Given the description of an element on the screen output the (x, y) to click on. 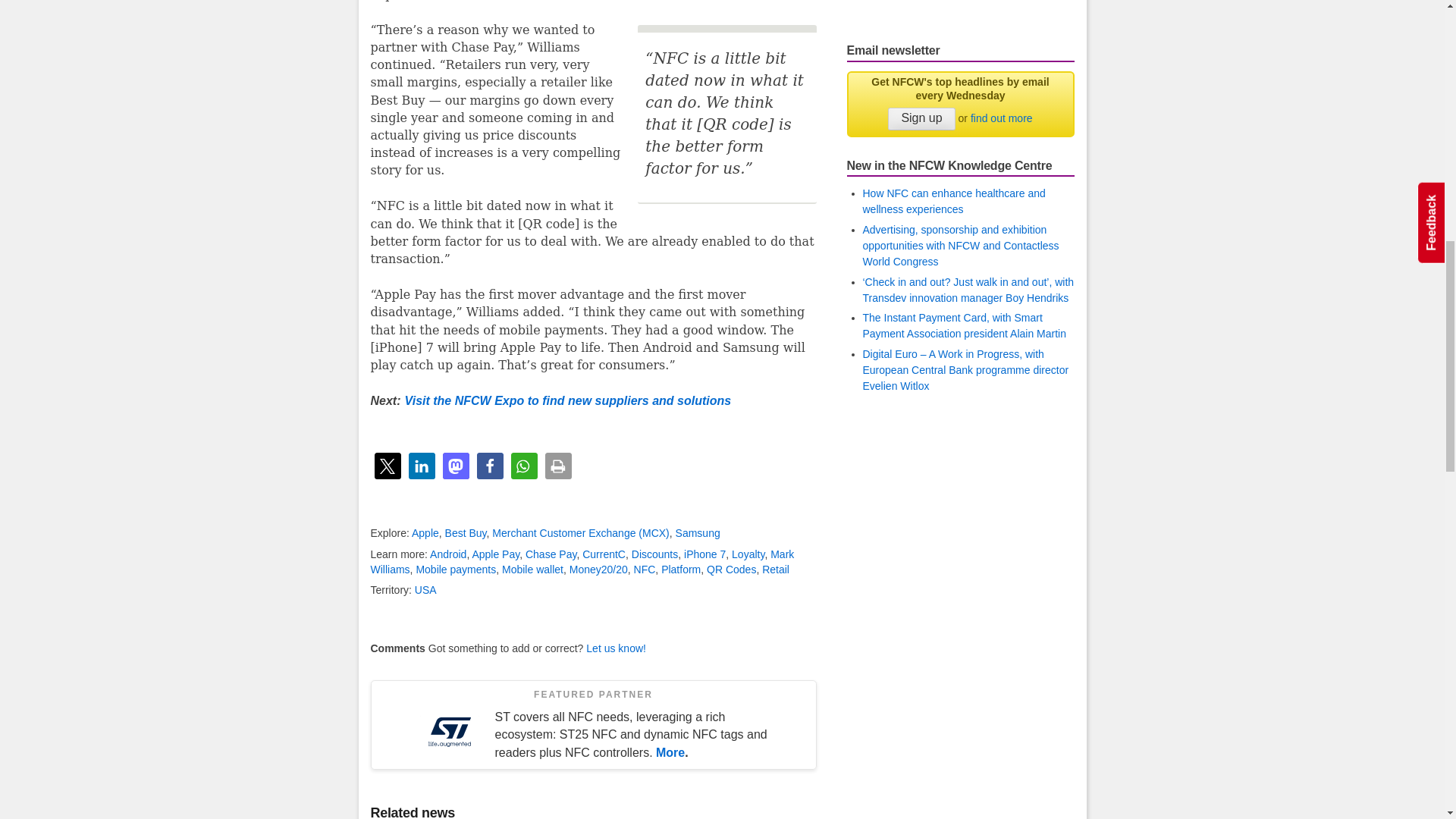
Share on X (387, 465)
Share on Facebook (489, 465)
1,355 more items that mention Apple (425, 532)
Share on Mastodon (455, 465)
Share on LinkedIn (420, 465)
Share on Whatsapp (524, 465)
print (557, 465)
